Given the description of an element on the screen output the (x, y) to click on. 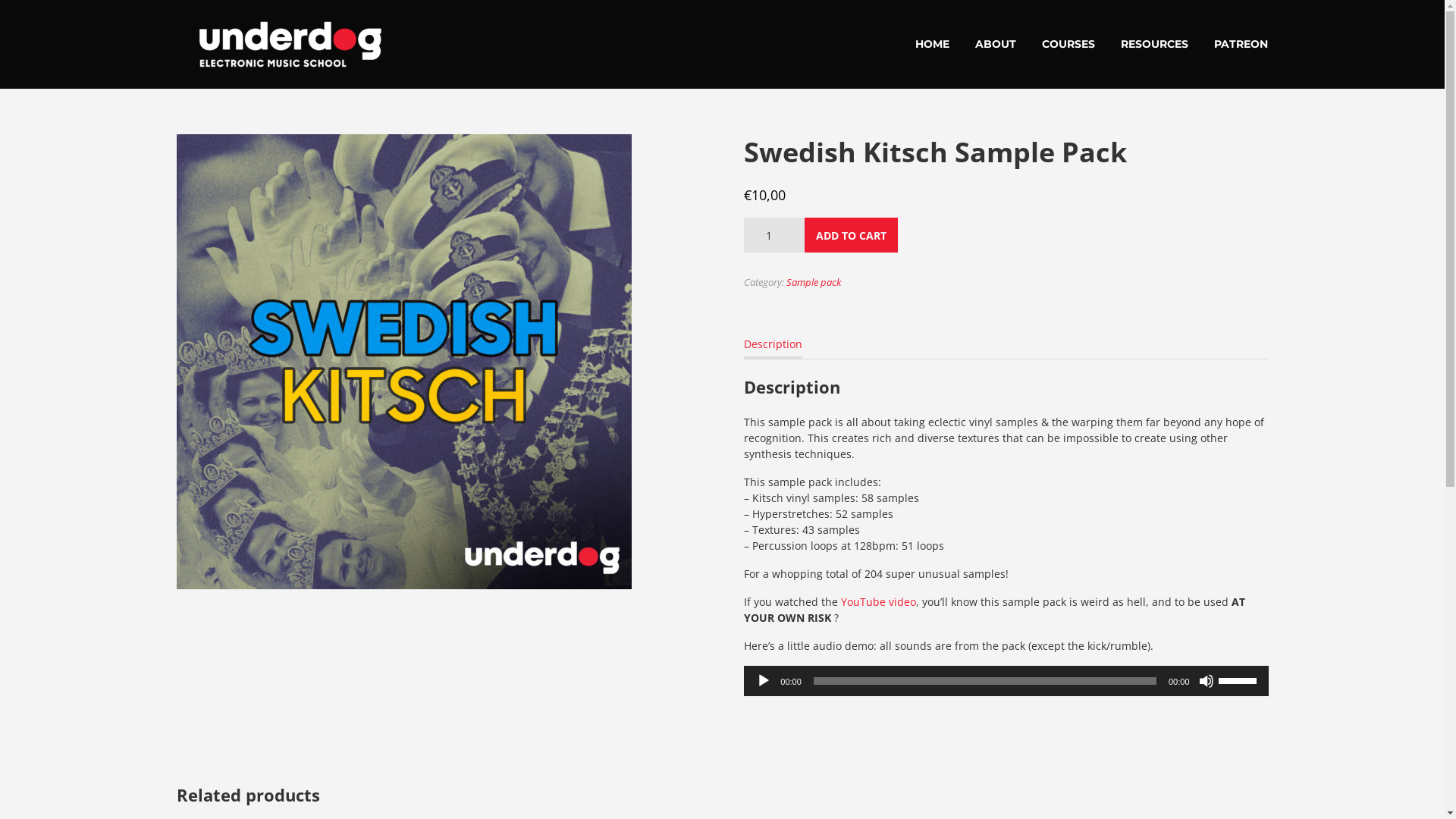
Sample pack Element type: text (813, 281)
PATREON Element type: text (1240, 44)
YouTube video Element type: text (878, 601)
COURSES Element type: text (1068, 44)
Underdog - Swedish Kitsch cover art Element type: hover (402, 361)
Mute Element type: hover (1205, 680)
Use Up/Down Arrow keys to increase or decrease volume. Element type: text (1238, 679)
Description Element type: text (772, 343)
ADD TO CART Element type: text (850, 234)
ABOUT Element type: text (995, 44)
RESOURCES Element type: text (1154, 44)
HOME Element type: text (932, 44)
Play Element type: hover (763, 680)
